Given the description of an element on the screen output the (x, y) to click on. 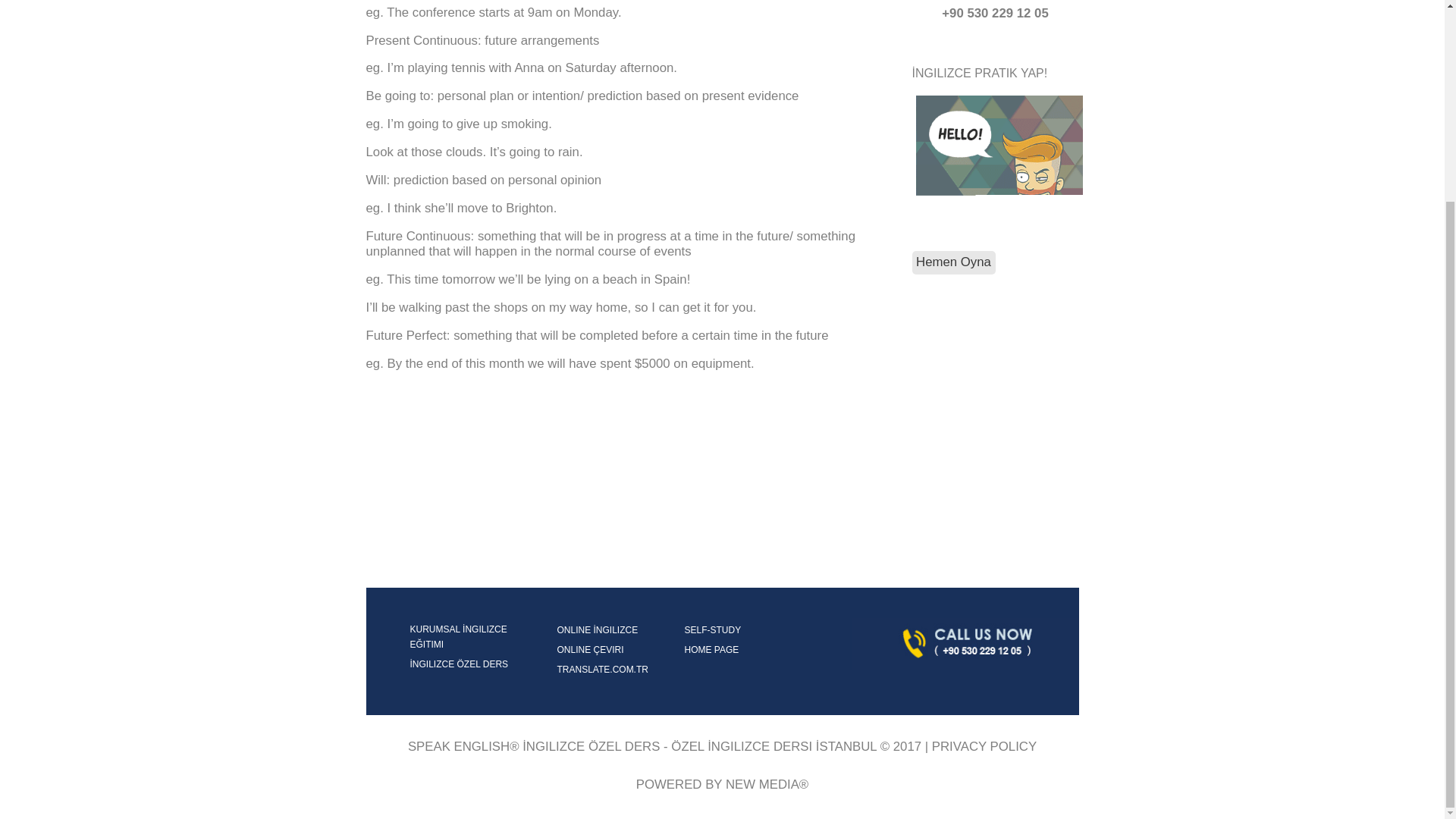
TRANSLATE.COM.TR (597, 669)
PRIVACY POLICY (983, 746)
Hemen Oyna (952, 261)
HOME PAGE (706, 649)
SELF-STUDY (708, 630)
